Given the description of an element on the screen output the (x, y) to click on. 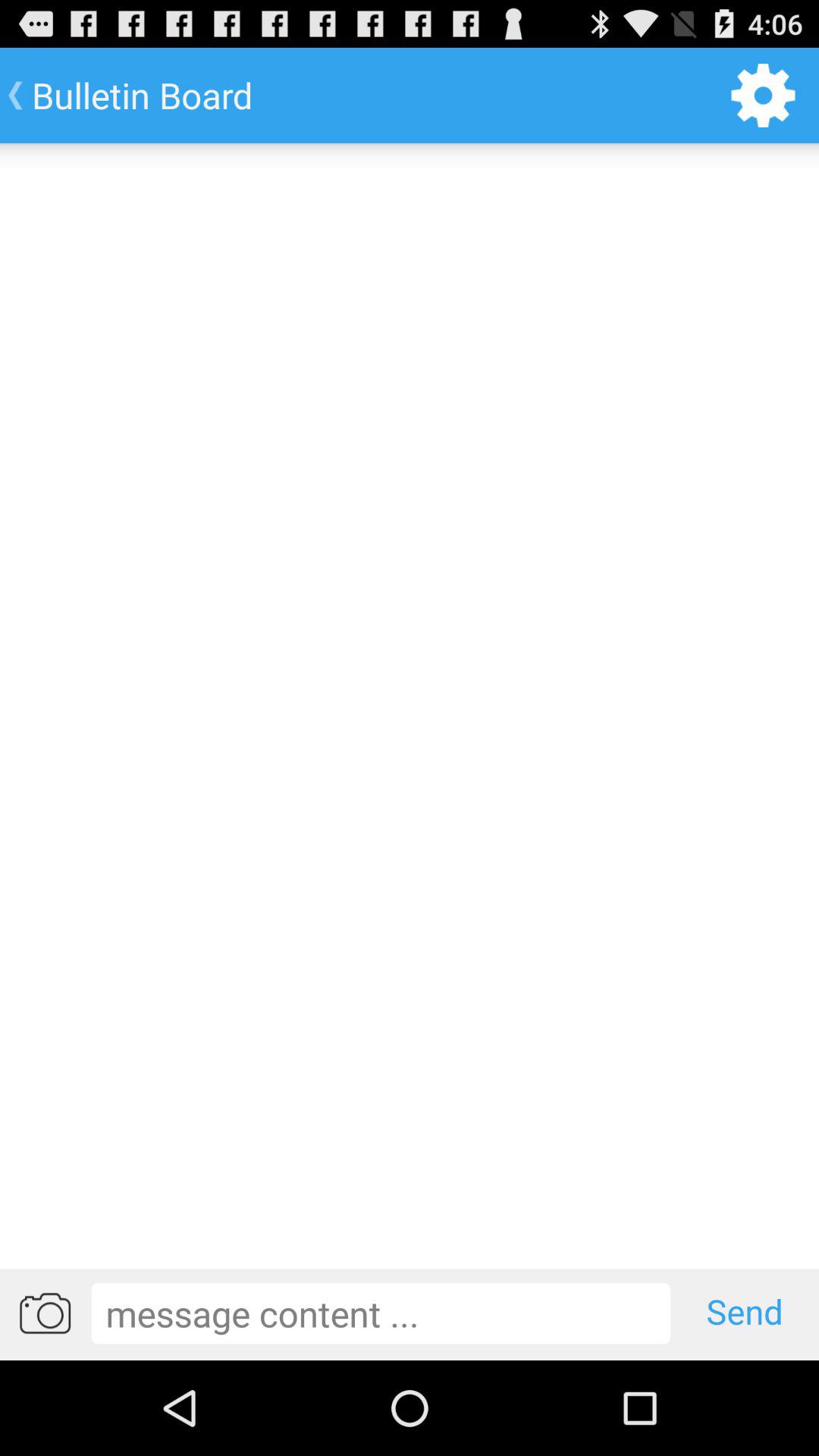
write message (380, 1313)
